Given the description of an element on the screen output the (x, y) to click on. 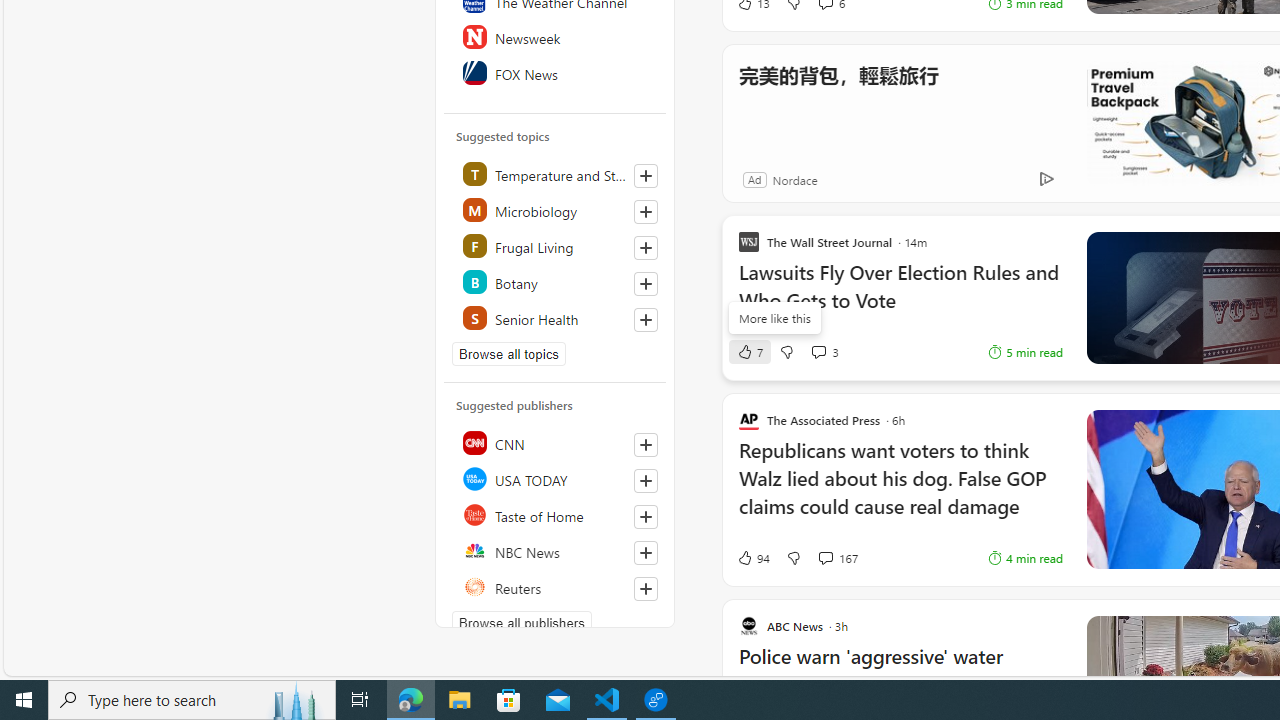
7 Like (749, 351)
94 Like (753, 557)
FOX News (556, 72)
Reuters (556, 586)
CNN (556, 442)
View comments 3 Comment (818, 352)
Browse all publishers (521, 623)
NBC News (556, 550)
Taste of Home (556, 514)
View comments 3 Comment (824, 351)
